Given the description of an element on the screen output the (x, y) to click on. 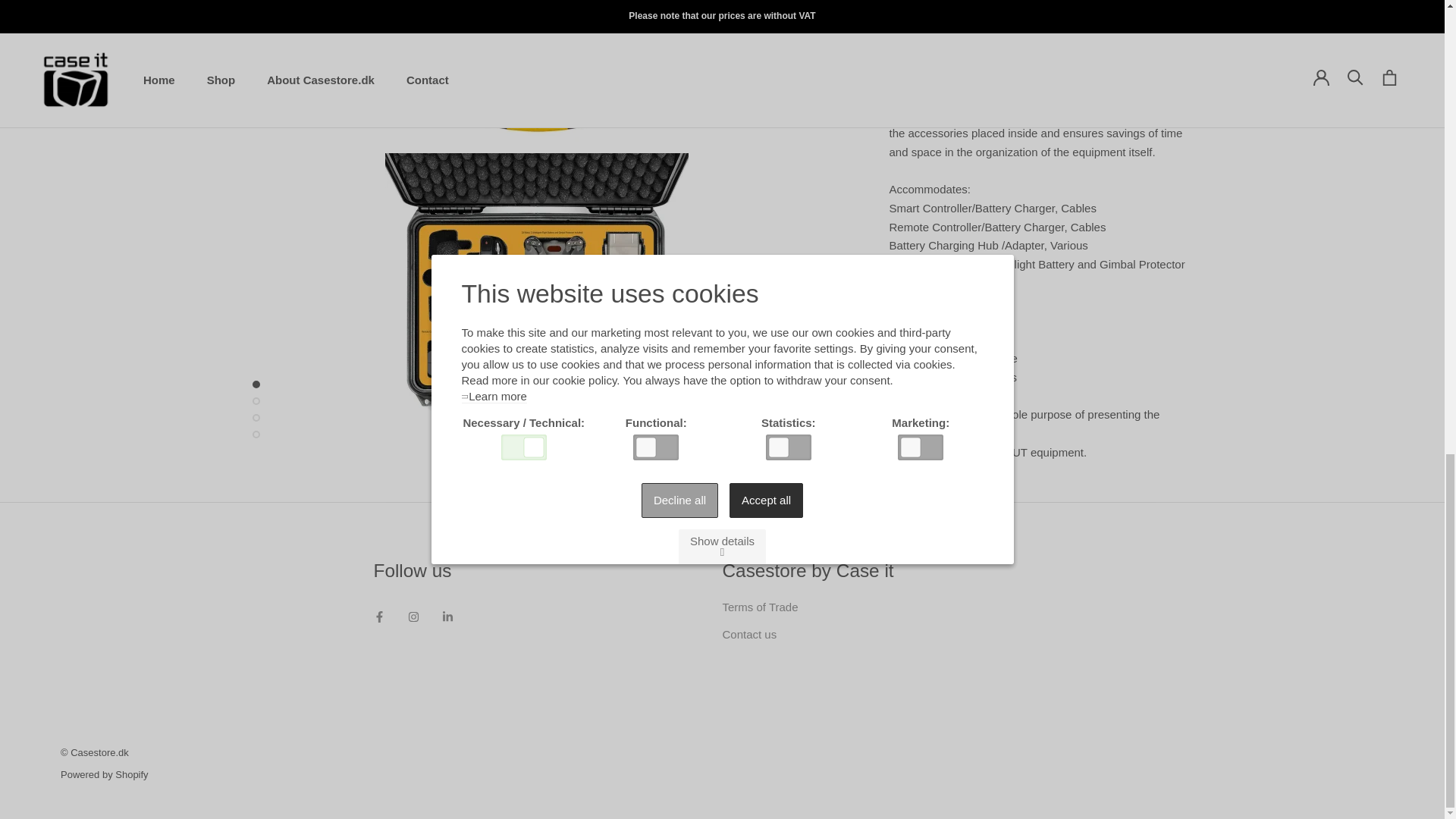
Instagram (412, 615)
Linkedin (447, 615)
Terms of Trade (759, 606)
Facebook (379, 615)
Contact us (749, 634)
